Given the description of an element on the screen output the (x, y) to click on. 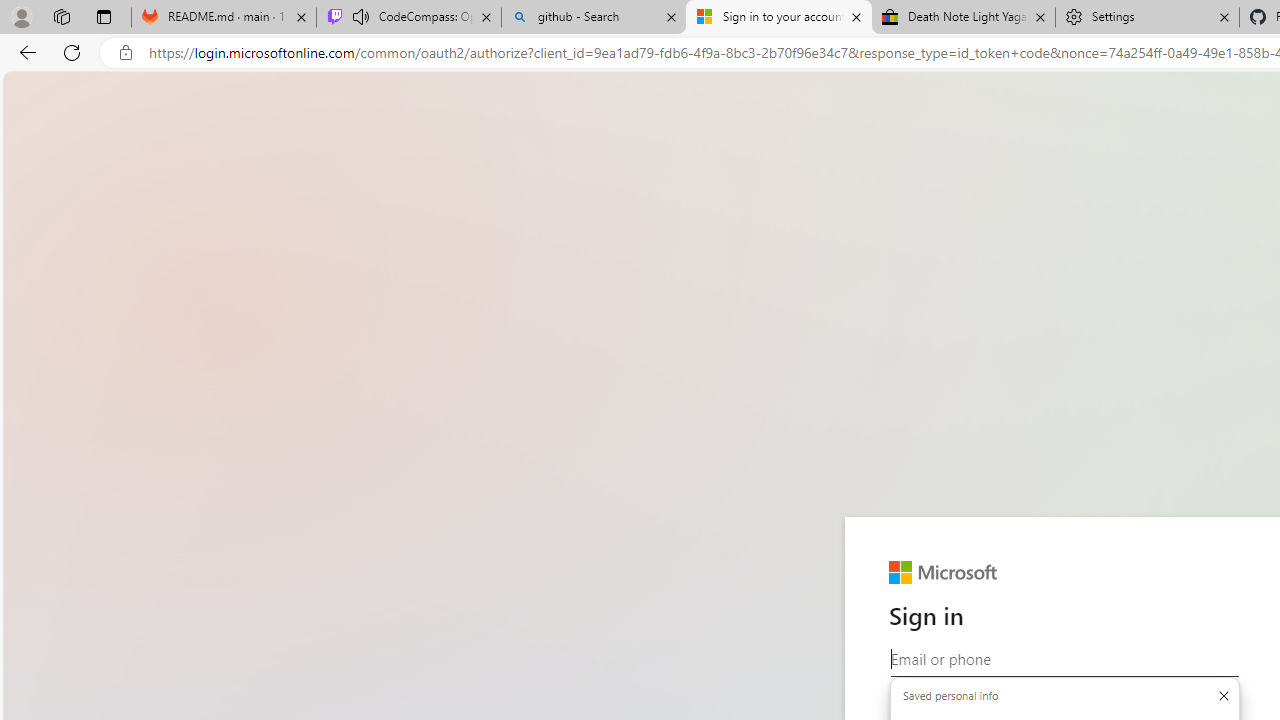
Don't show saved information (1223, 695)
github - Search (593, 17)
Microsoft (943, 573)
Enter your email or phone (1064, 659)
